Given the description of an element on the screen output the (x, y) to click on. 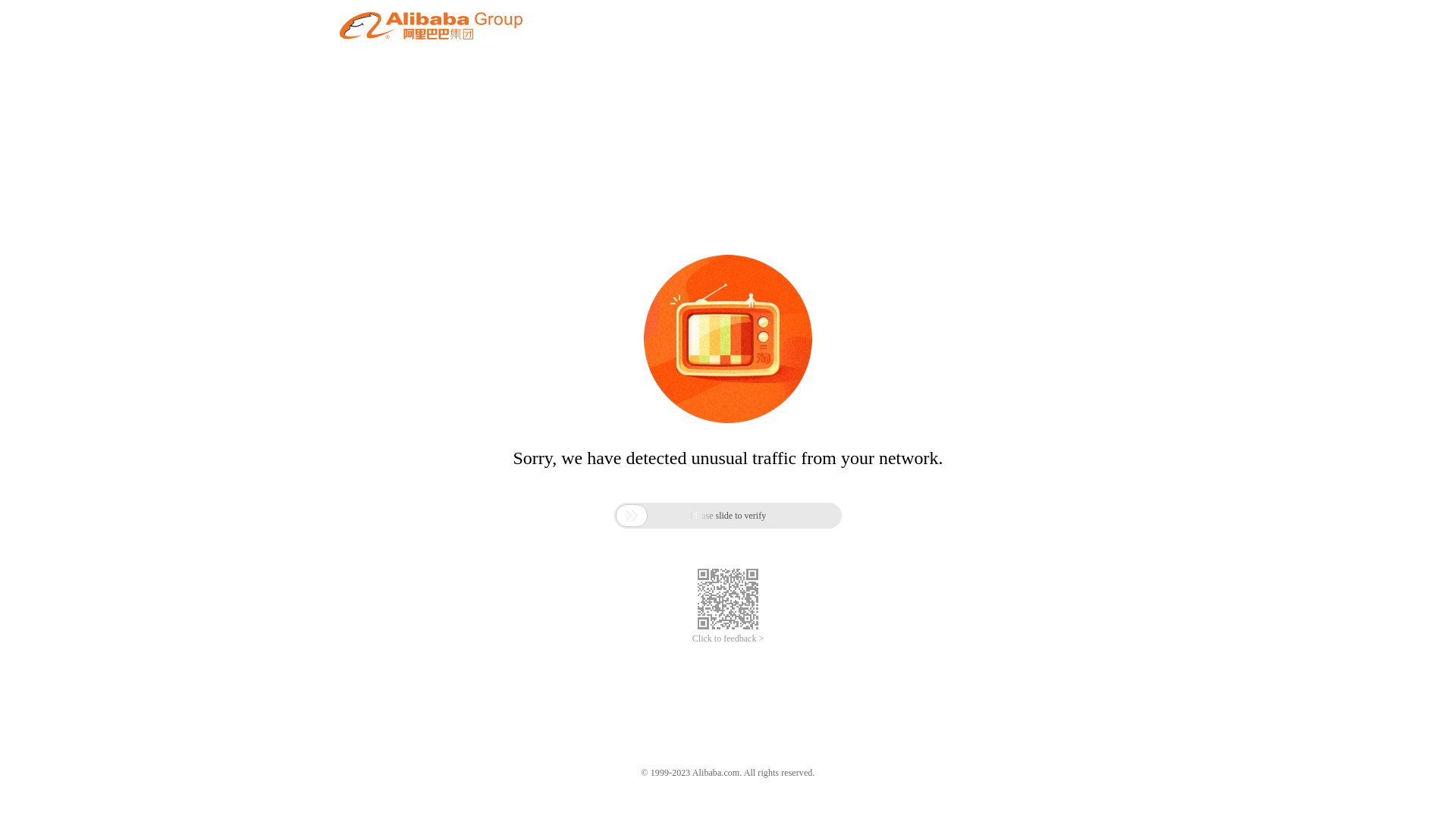
Click to feedback > Element type: text (727, 638)
